Given the description of an element on the screen output the (x, y) to click on. 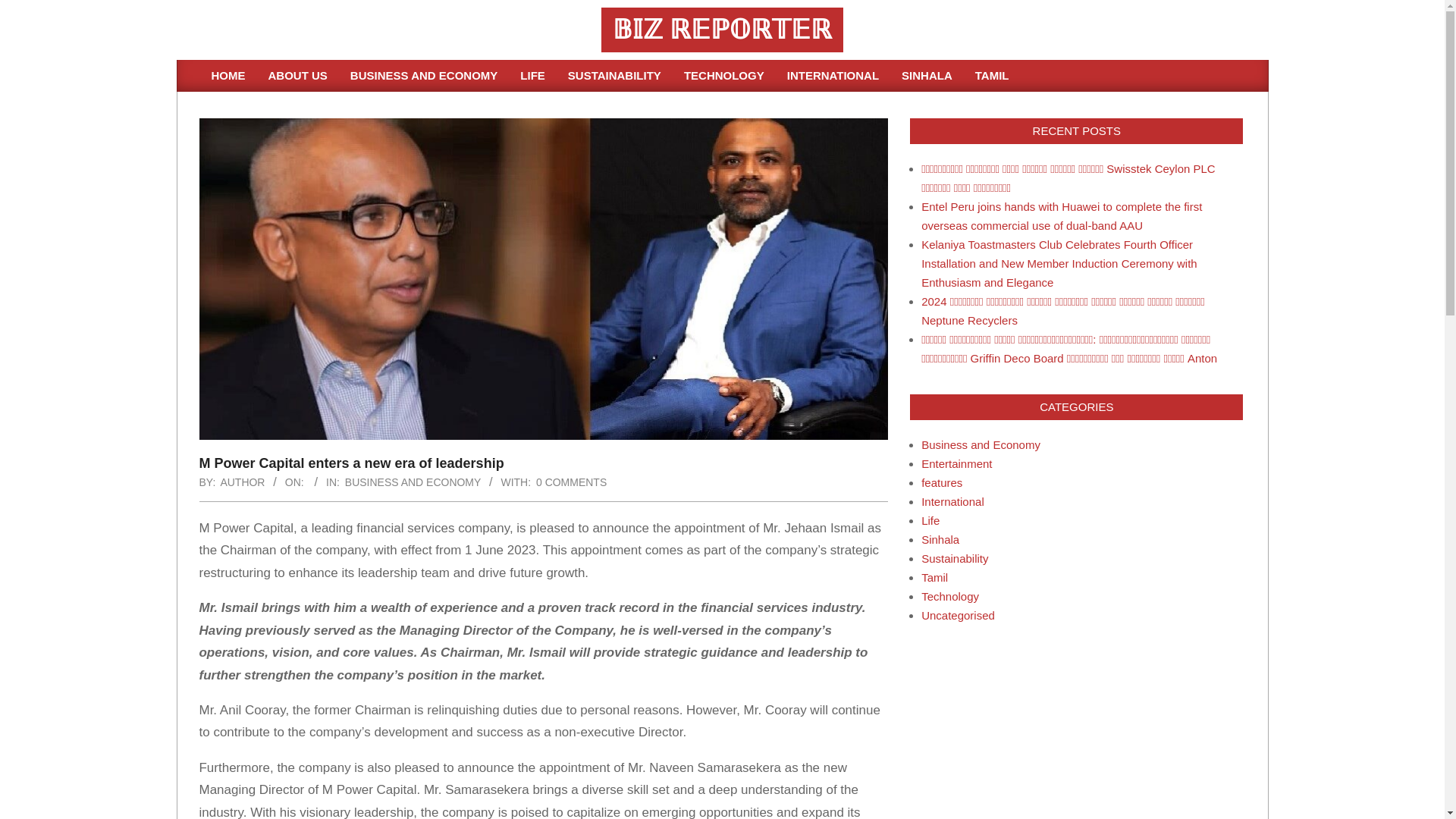
AUTHOR (241, 481)
International (952, 501)
Entertainment (956, 463)
INTERNATIONAL (832, 75)
LIFE (532, 75)
Business and Economy (981, 444)
Posts by Author (241, 481)
features (941, 481)
0 COMMENTS (571, 481)
